Given the description of an element on the screen output the (x, y) to click on. 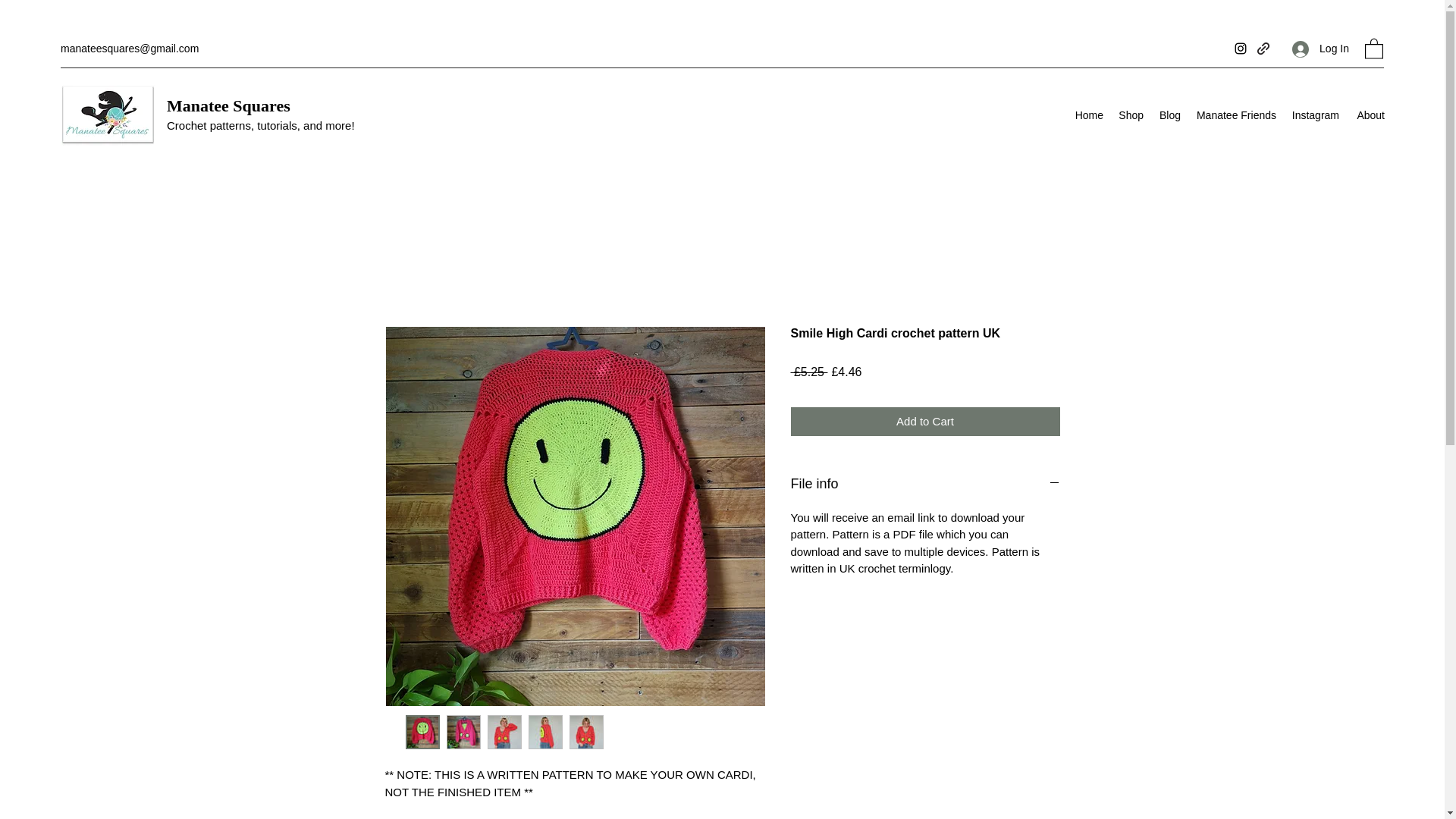
Add to Cart (924, 421)
Shop (1130, 115)
Manatee Friends (1236, 115)
Manatee Squares (228, 105)
Log In (1320, 49)
Blog (1169, 115)
File info (924, 484)
About (1368, 115)
Home (1088, 115)
Instagram (1315, 115)
